Given the description of an element on the screen output the (x, y) to click on. 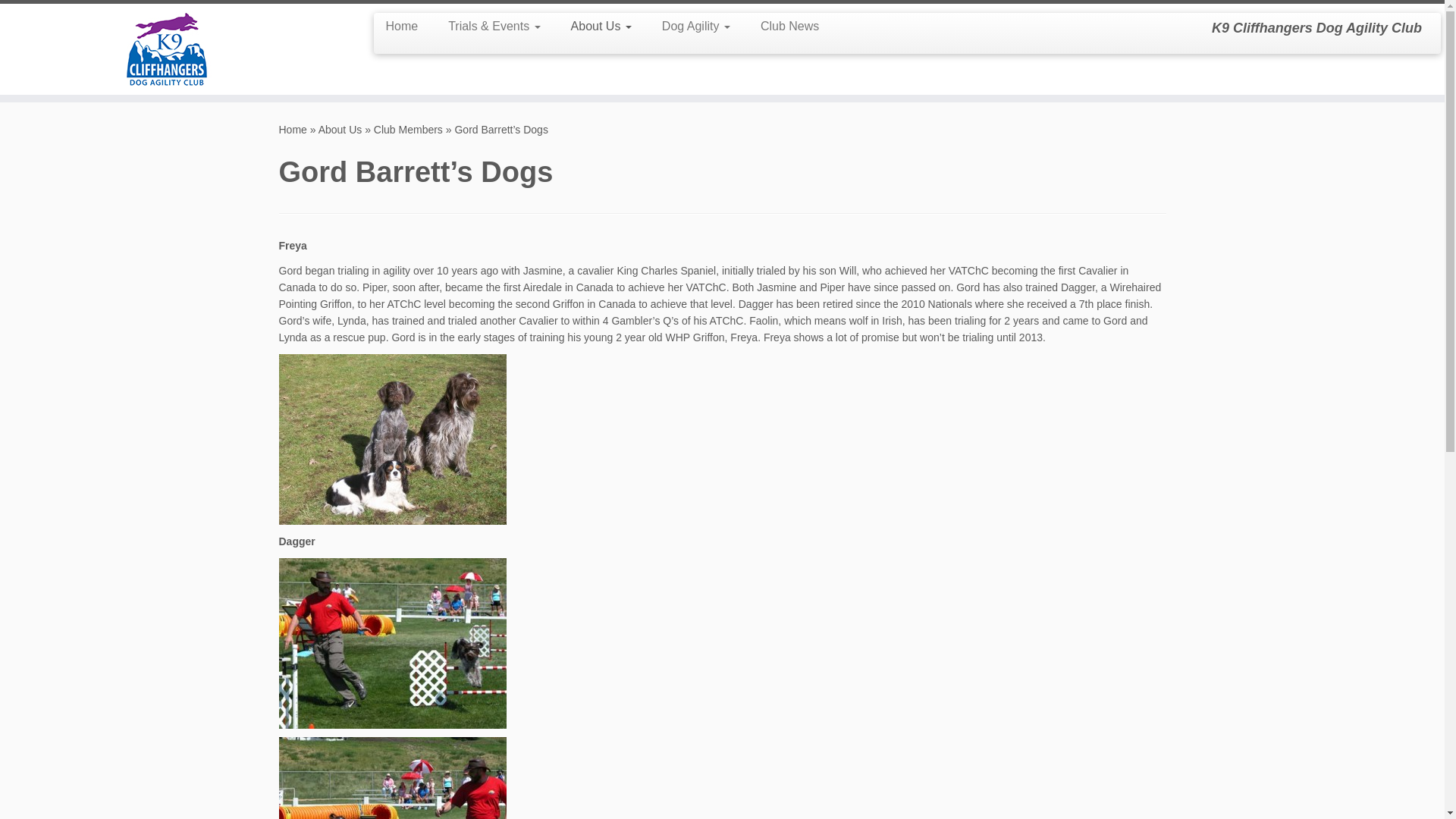
Home (293, 129)
About Us (340, 129)
Dagger1 (392, 642)
About Us (601, 26)
Club News (781, 26)
K9 Cliffhangers (293, 129)
About Us (340, 129)
Club Members (408, 129)
Dagger2 (392, 816)
Home (406, 26)
Club Members (408, 129)
DaggerFaolinFreya (392, 438)
Dog Agility (695, 26)
